Given the description of an element on the screen output the (x, y) to click on. 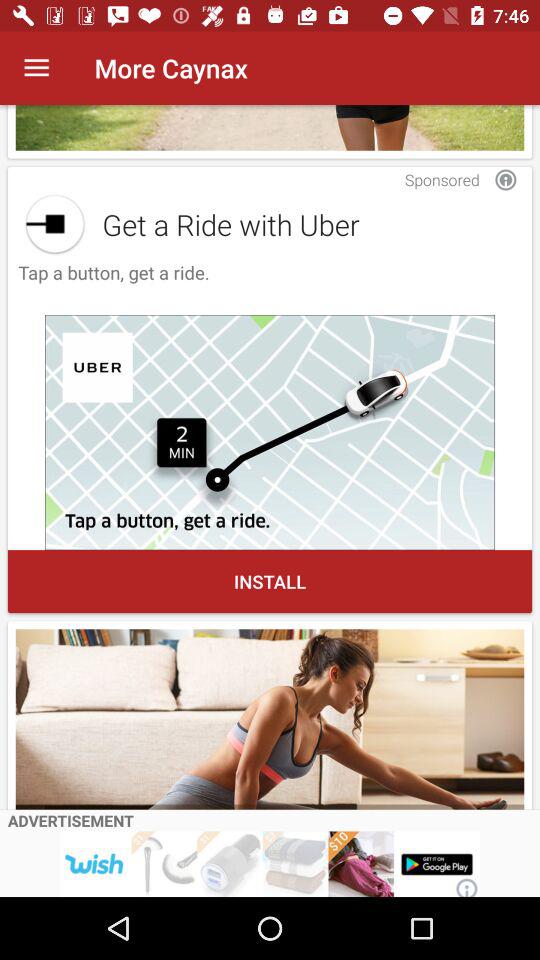
open app (54, 224)
